Given the description of an element on the screen output the (x, y) to click on. 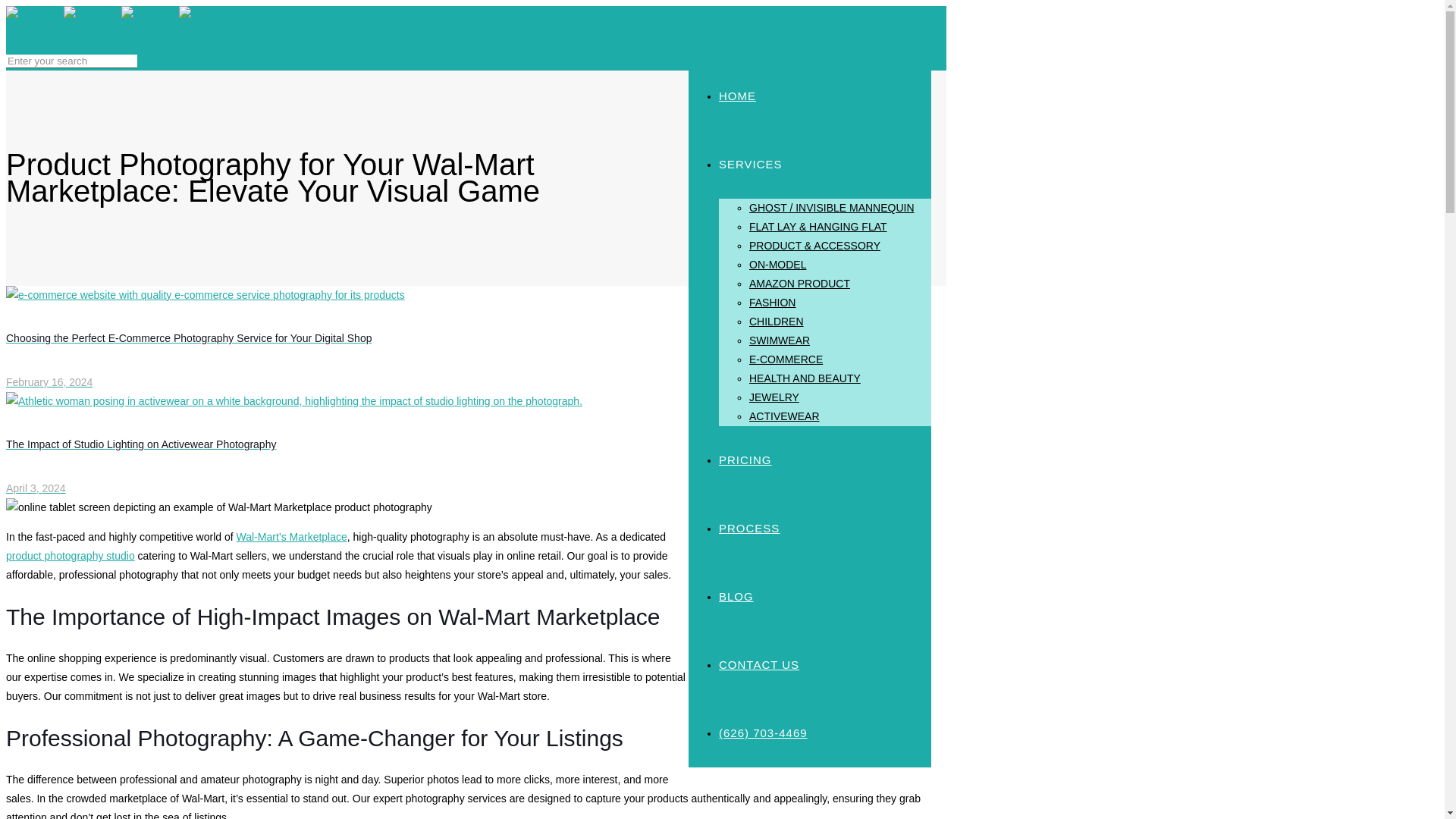
Clothing and Product Photography Studio  (120, 28)
E-COMMERCE (785, 358)
HEALTH AND BEAUTY (804, 378)
ON-MODEL (777, 264)
SERVICES (751, 163)
CONTACT US (759, 664)
BLOG (736, 596)
FASHION (771, 302)
JEWELRY (774, 397)
product photography studio (70, 555)
AMAZON PRODUCT (799, 283)
ACTIVEWEAR (784, 416)
SWIMWEAR (779, 340)
PROCESS (748, 528)
HOME (737, 95)
